Given the description of an element on the screen output the (x, y) to click on. 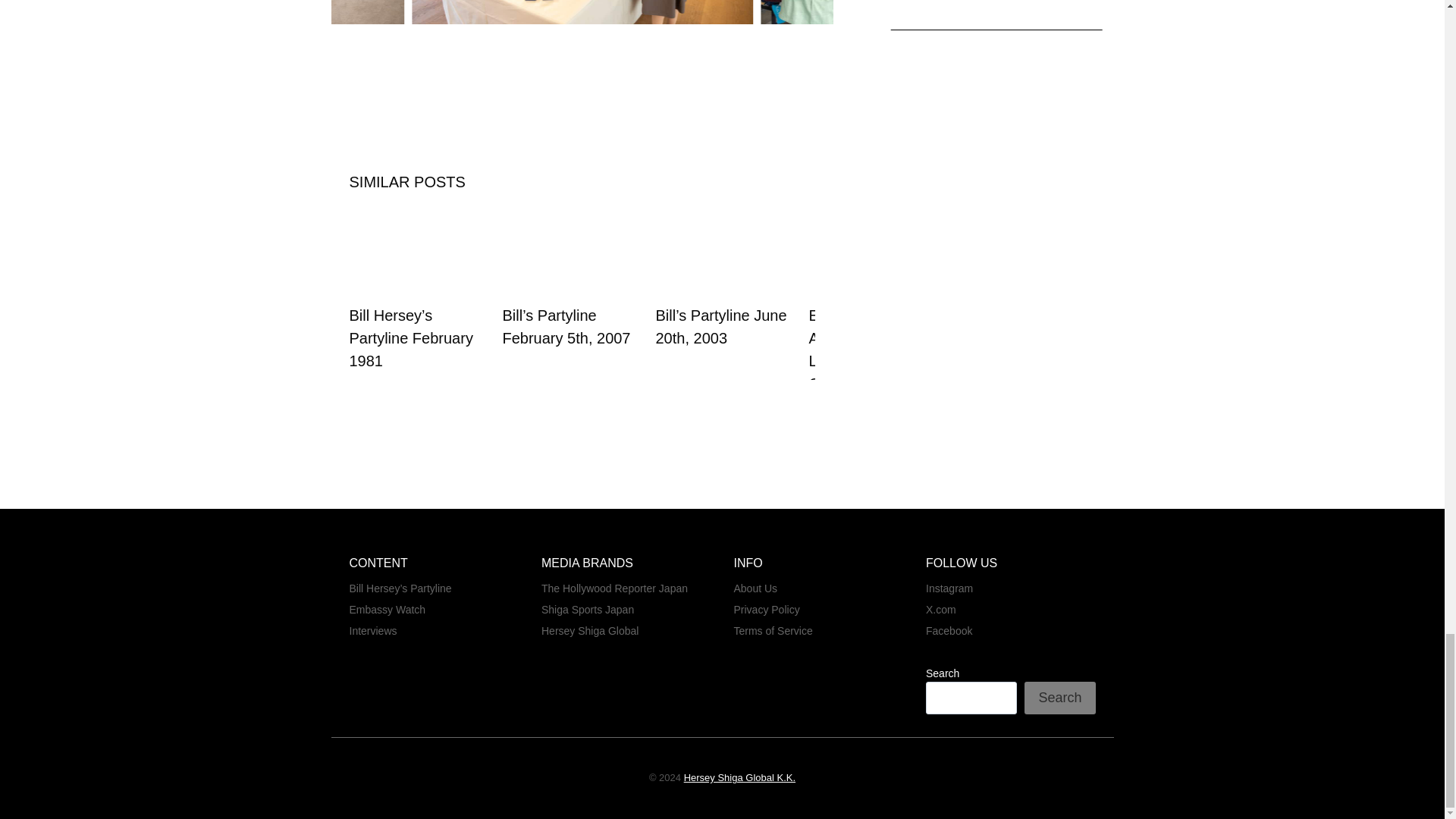
Estonian Ambassador to Leave Post With Great Achievements (876, 349)
